Given the description of an element on the screen output the (x, y) to click on. 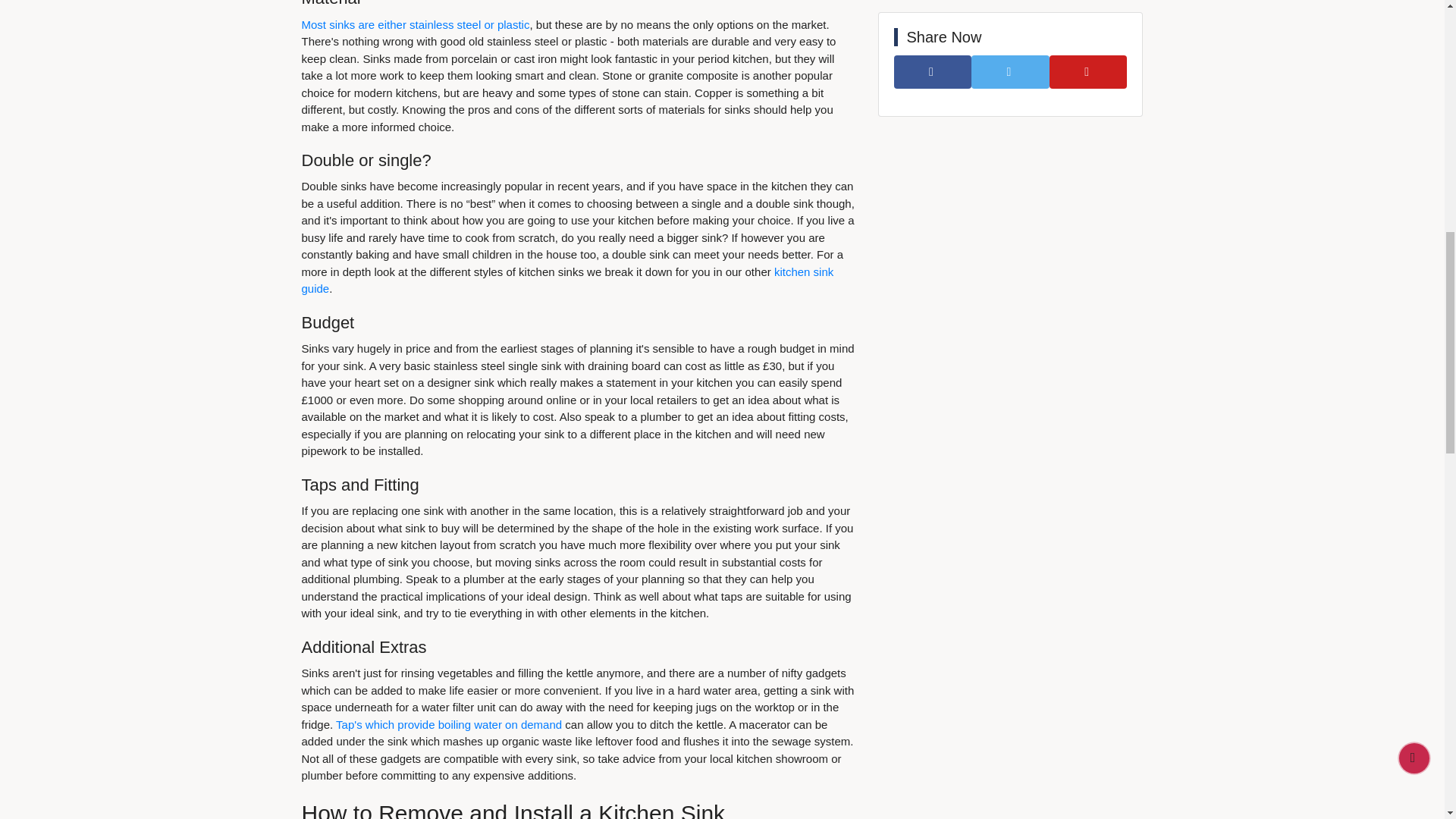
kitchen sink guide (567, 280)
Most sinks are either stainless steel or plastic (415, 24)
Tap's which provide boiling water on demand (449, 724)
